Given the description of an element on the screen output the (x, y) to click on. 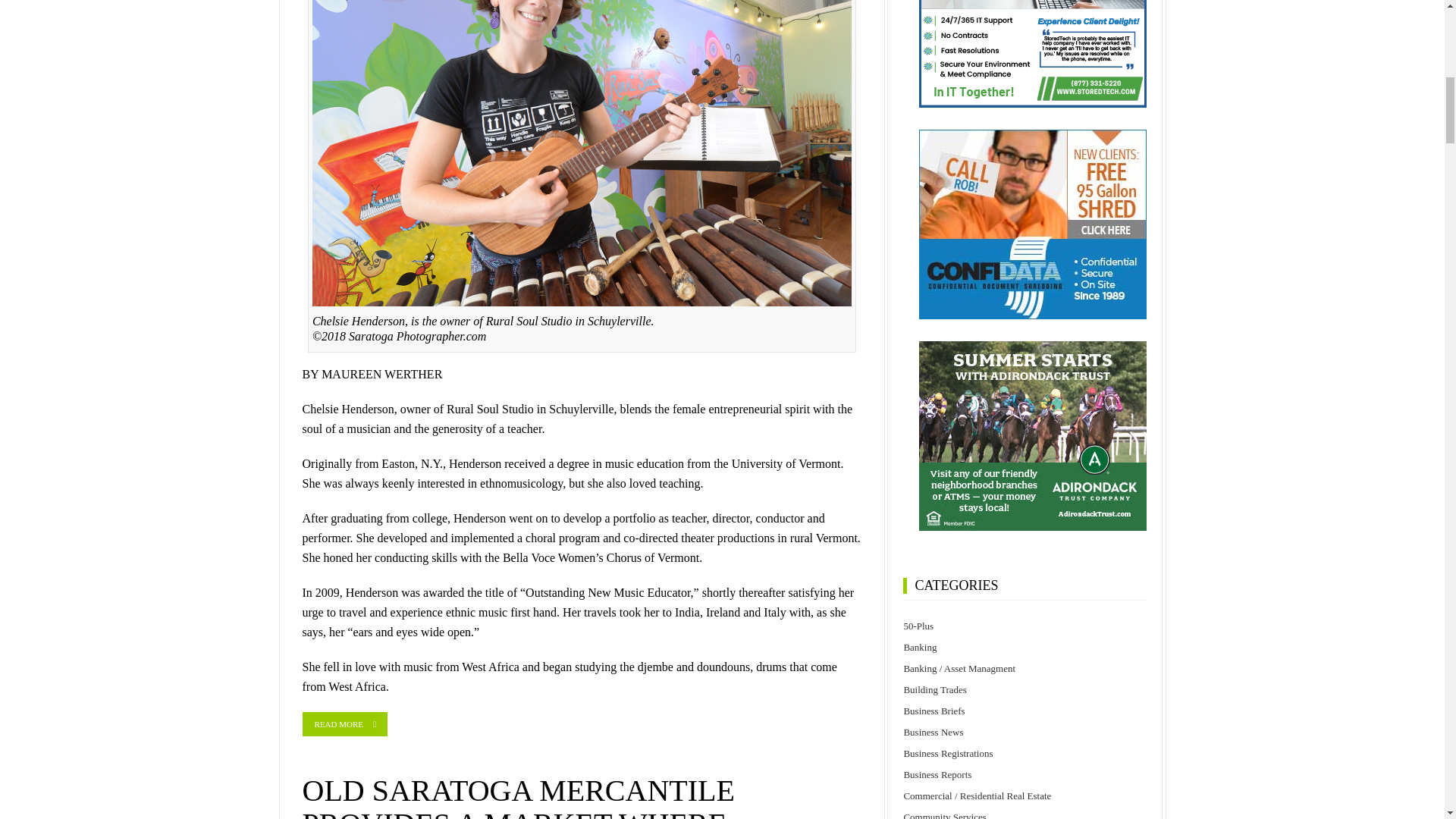
READ MORE (344, 723)
